Given the description of an element on the screen output the (x, y) to click on. 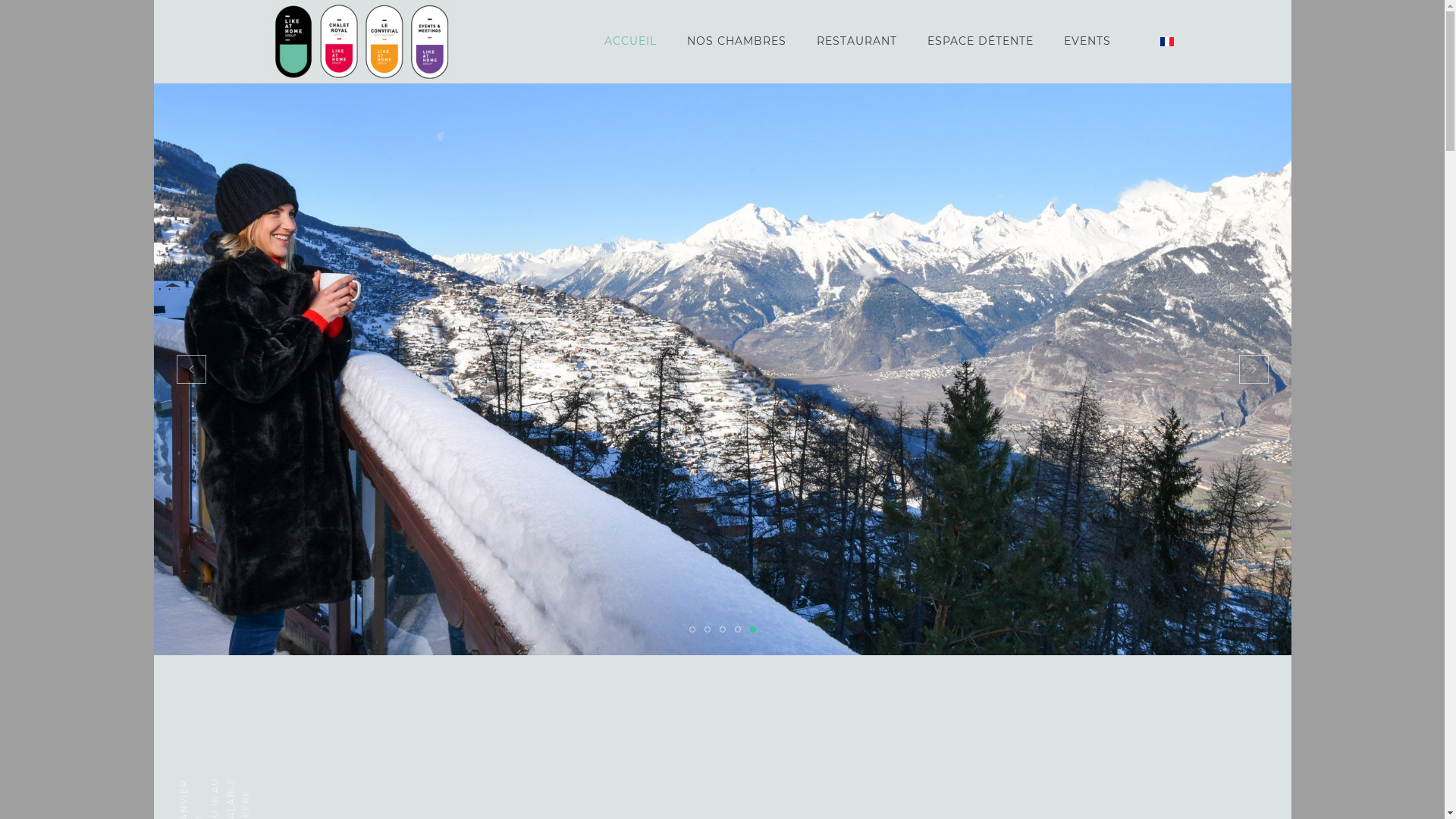
EVENTS Element type: text (1086, 41)
NOS CHAMBRES Element type: text (736, 41)
RESTAURANT Element type: text (855, 41)
ACCUEIL Element type: text (629, 41)
